Given the description of an element on the screen output the (x, y) to click on. 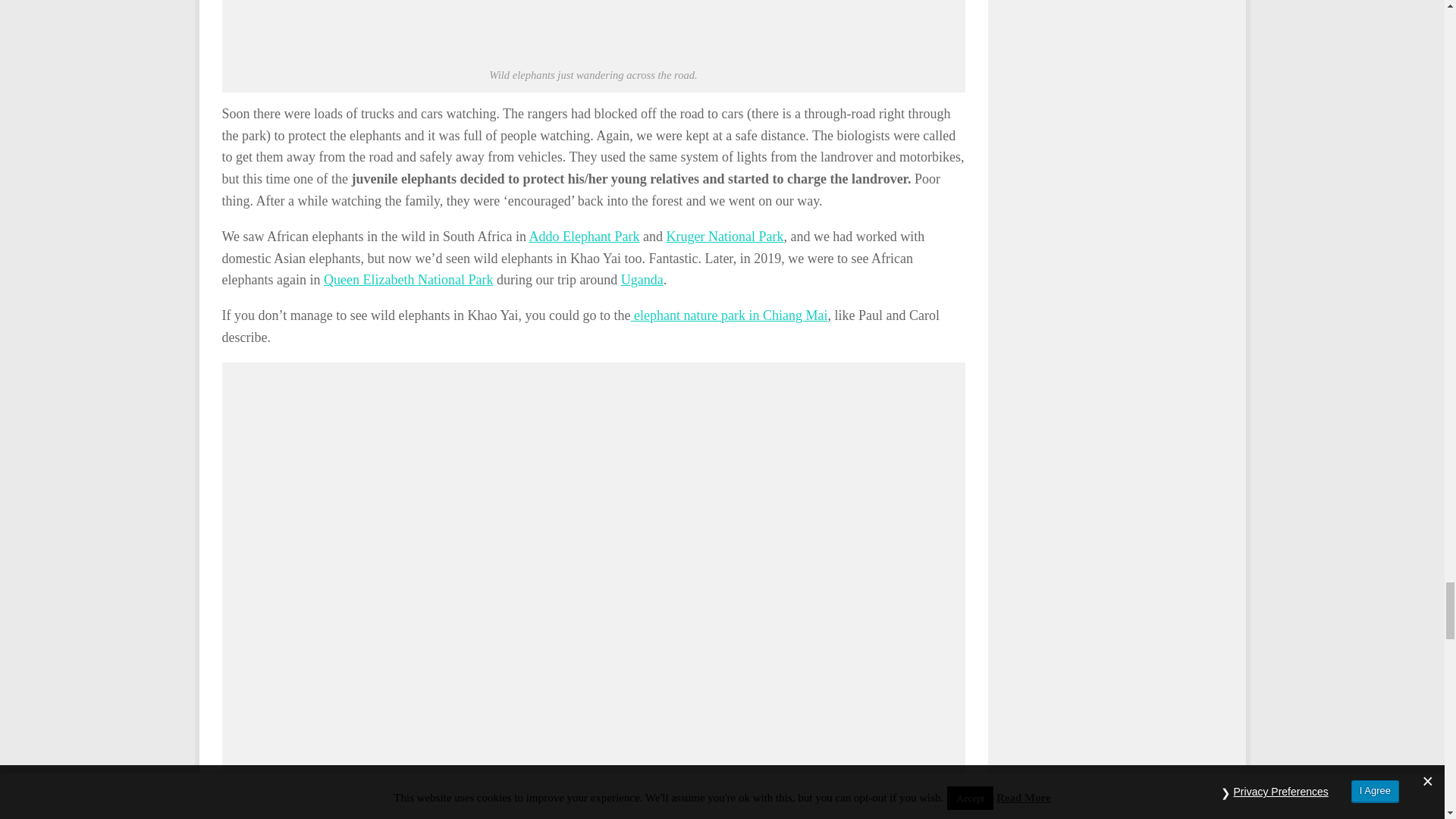
elephant nature park in Chiang Mai (729, 314)
Uganda (642, 279)
Addo Elephant Park (583, 236)
Kruger National Park (724, 236)
Queen Elizabeth National Park (408, 279)
